Given the description of an element on the screen output the (x, y) to click on. 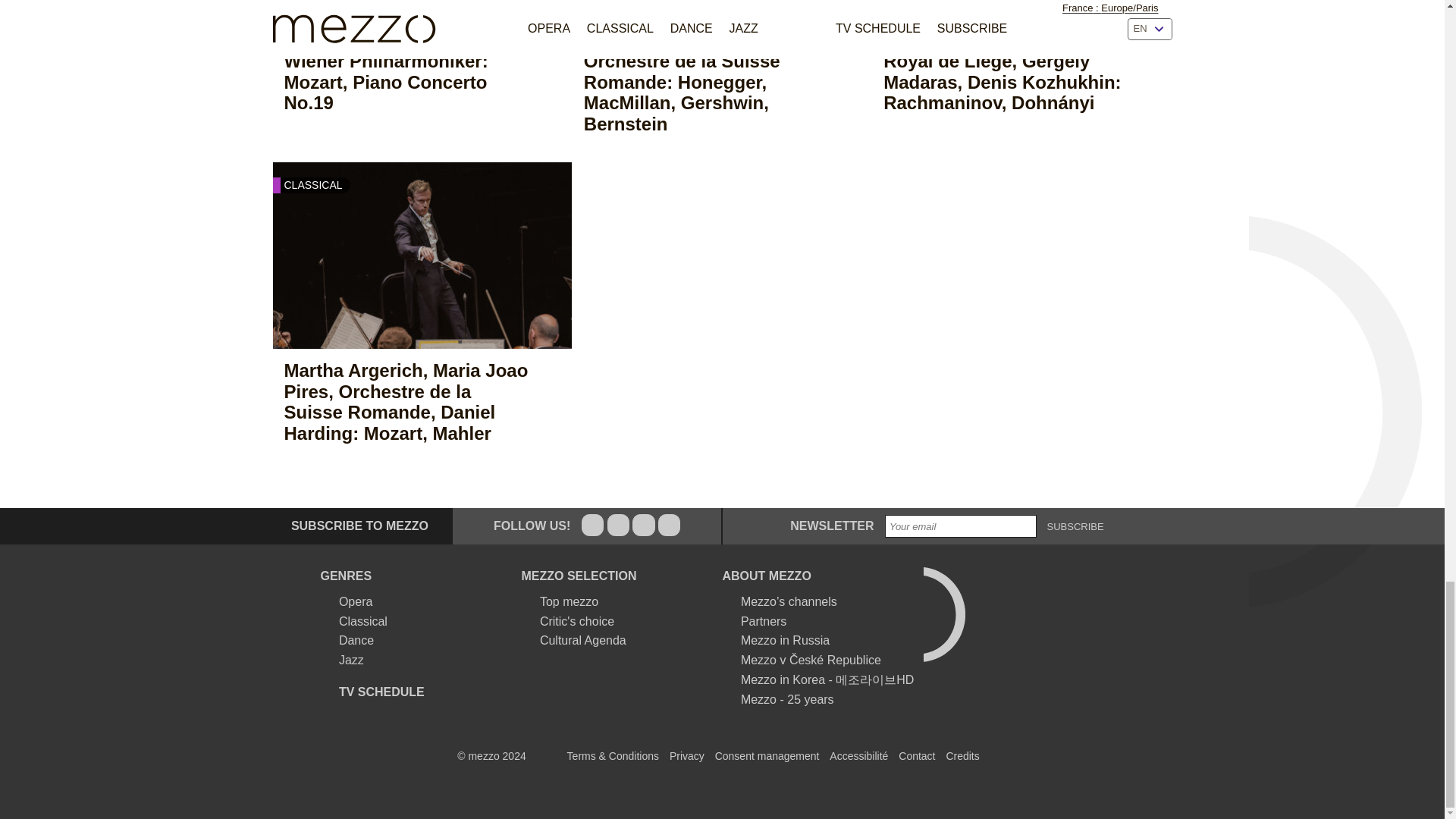
on Instagram (642, 525)
on Twitter (617, 525)
on Youtube (668, 525)
On Facebook (592, 525)
SUBSCRIBE TO MEZZO (350, 525)
